Given the description of an element on the screen output the (x, y) to click on. 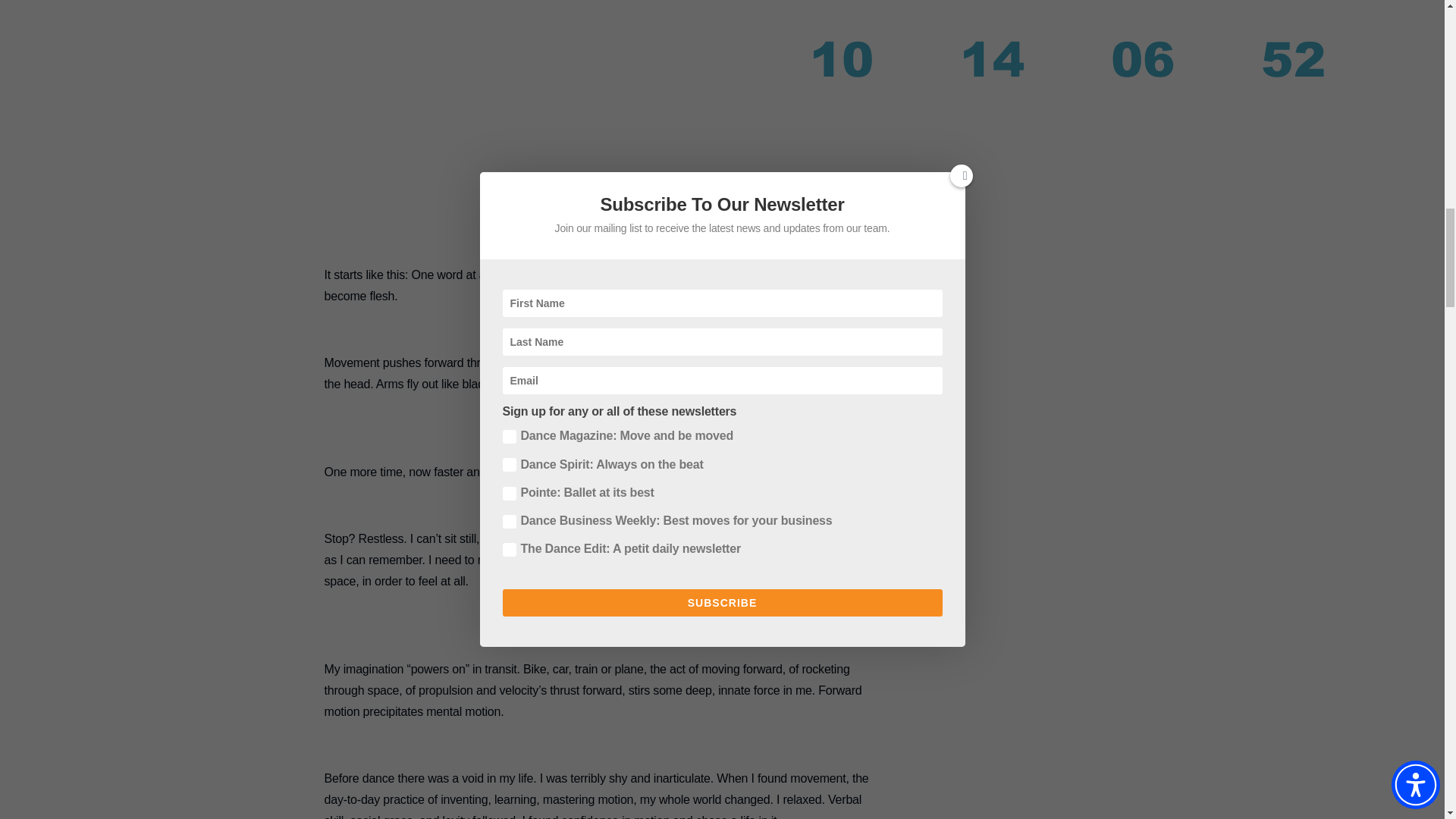
3rd party ad content (602, 139)
